Given the description of an element on the screen output the (x, y) to click on. 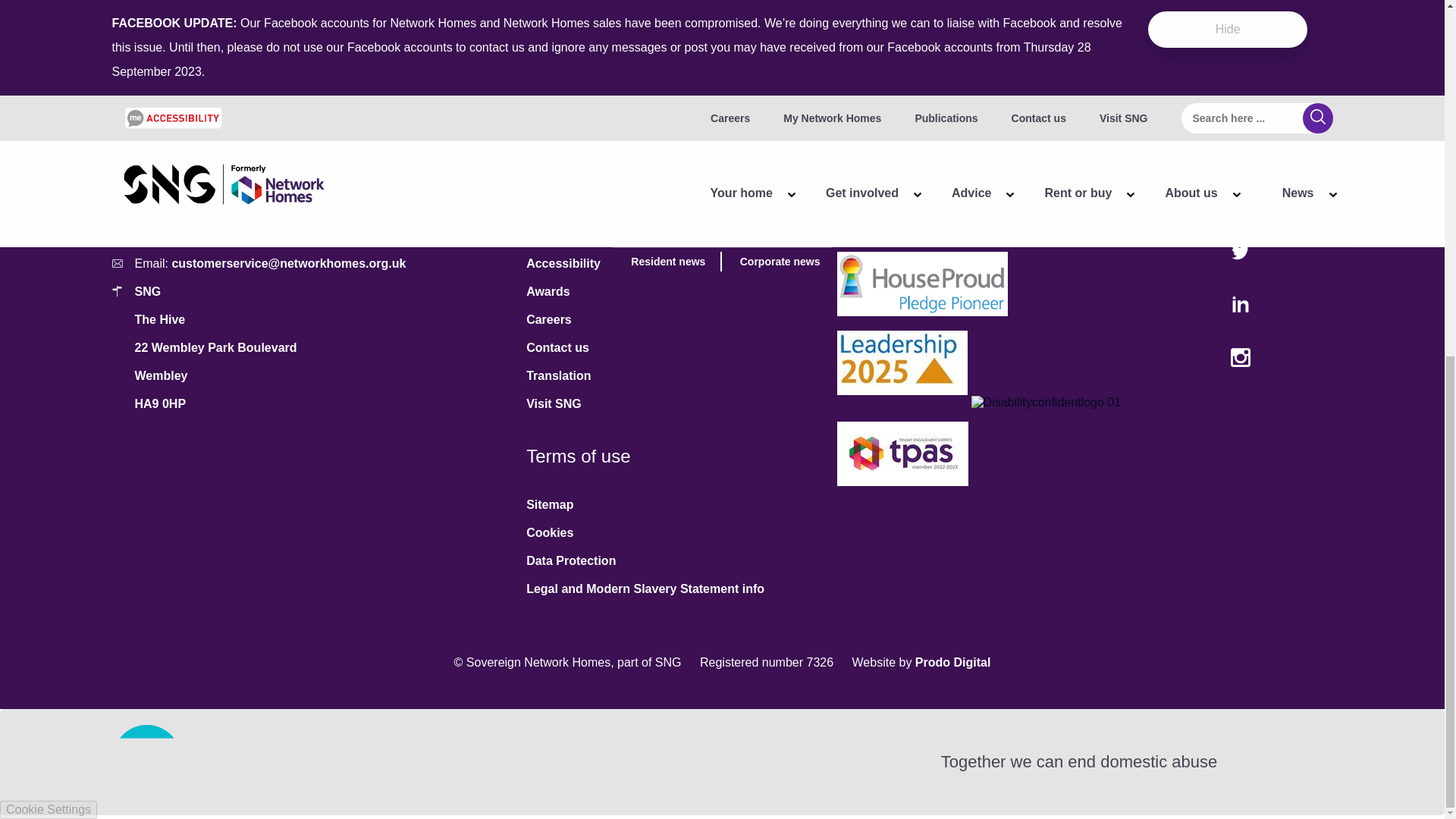
Cookie Settings (48, 182)
